Given the description of an element on the screen output the (x, y) to click on. 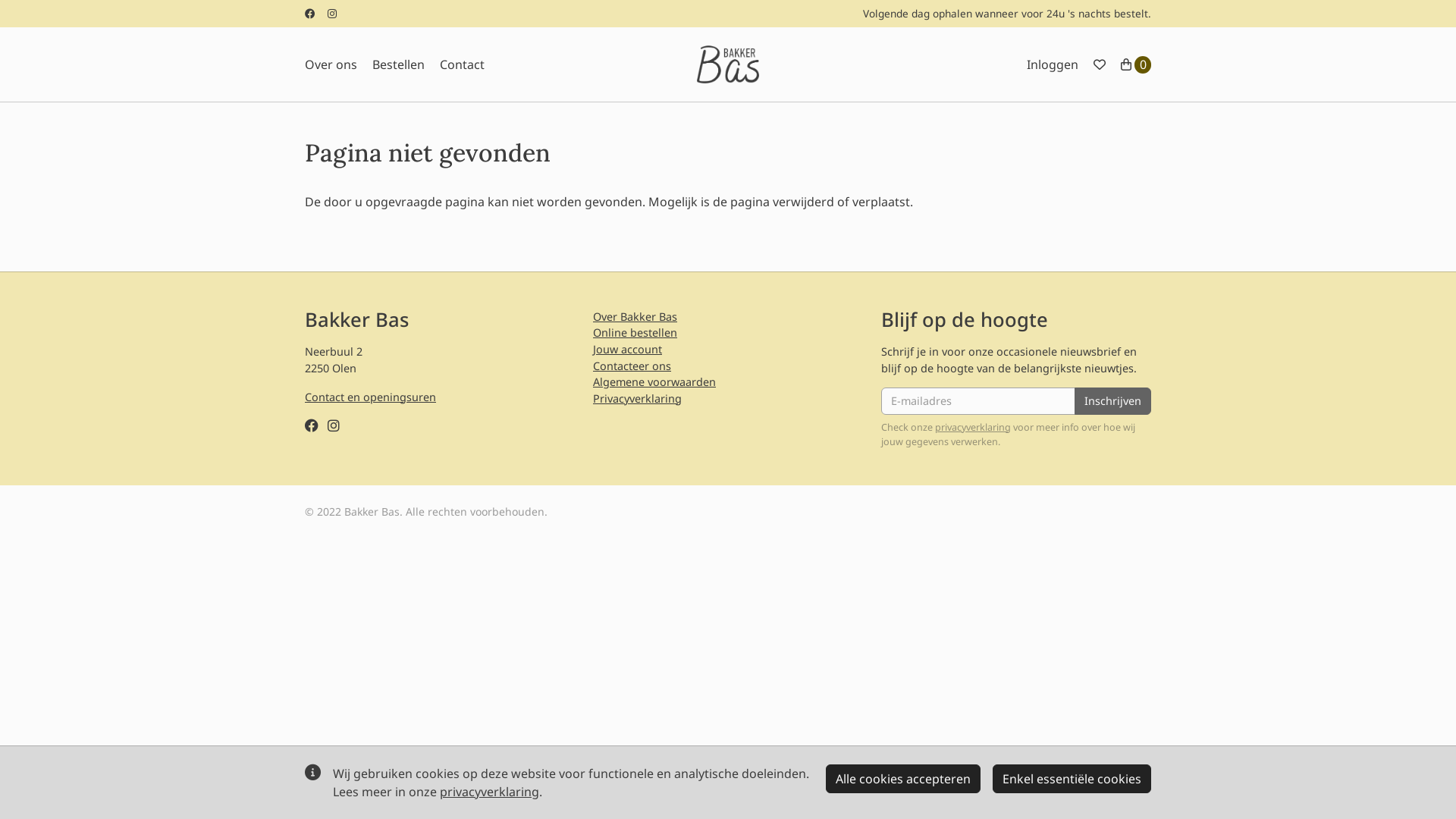
Privacyverklaring Element type: text (637, 398)
Inschrijven Element type: text (1112, 400)
privacyverklaring Element type: text (972, 426)
Terug naar de startpagina Element type: hover (727, 63)
privacyverklaring Element type: text (489, 791)
Contacteer ons Element type: text (632, 365)
Bestellen Element type: text (398, 64)
Favorieten Element type: hover (1099, 64)
Over Bakker Bas Element type: text (635, 316)
Bakker Bas op Facebook Element type: hover (309, 13)
Contact Element type: text (461, 64)
Bakker Bas op Instagram Element type: hover (333, 424)
Bakker Bas op Instagram Element type: hover (331, 13)
Online bestellen Element type: text (635, 332)
0 Element type: text (1135, 64)
Over ons Element type: text (330, 64)
Contact en openingsuren Element type: text (370, 396)
Alle cookies accepteren Element type: text (902, 778)
Bakker Bas op Facebook Element type: hover (311, 424)
Jouw account Element type: text (627, 349)
Inloggen Element type: text (1052, 64)
Algemene voorwaarden Element type: text (654, 381)
